Given the description of an element on the screen output the (x, y) to click on. 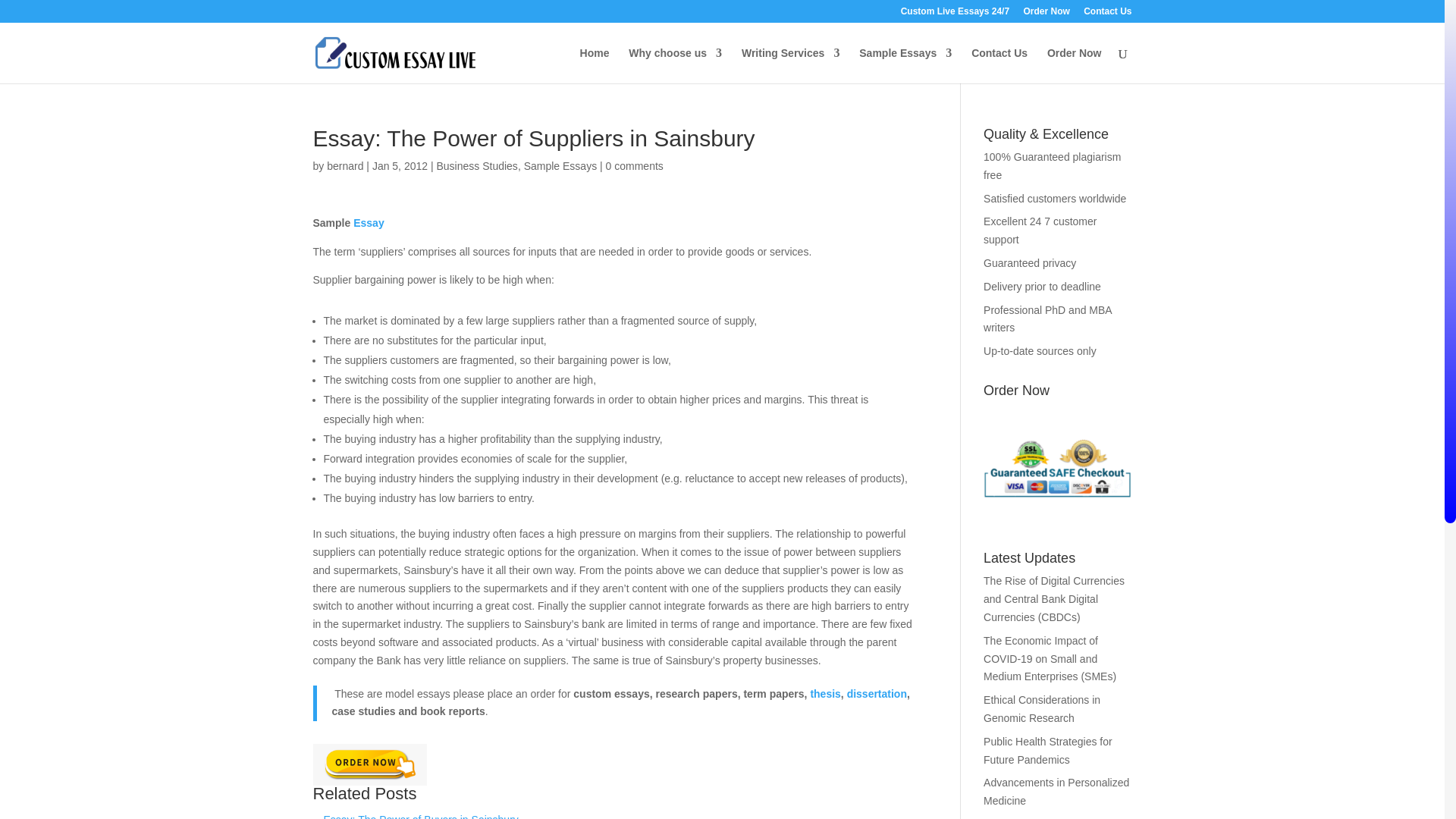
Contact Us (999, 65)
Sample Essays (905, 65)
Posts by bernard (344, 165)
Contact Us (1107, 14)
Order Now (1045, 14)
Order Now (369, 764)
Writing Services (790, 65)
Why choose us (675, 65)
